Given the description of an element on the screen output the (x, y) to click on. 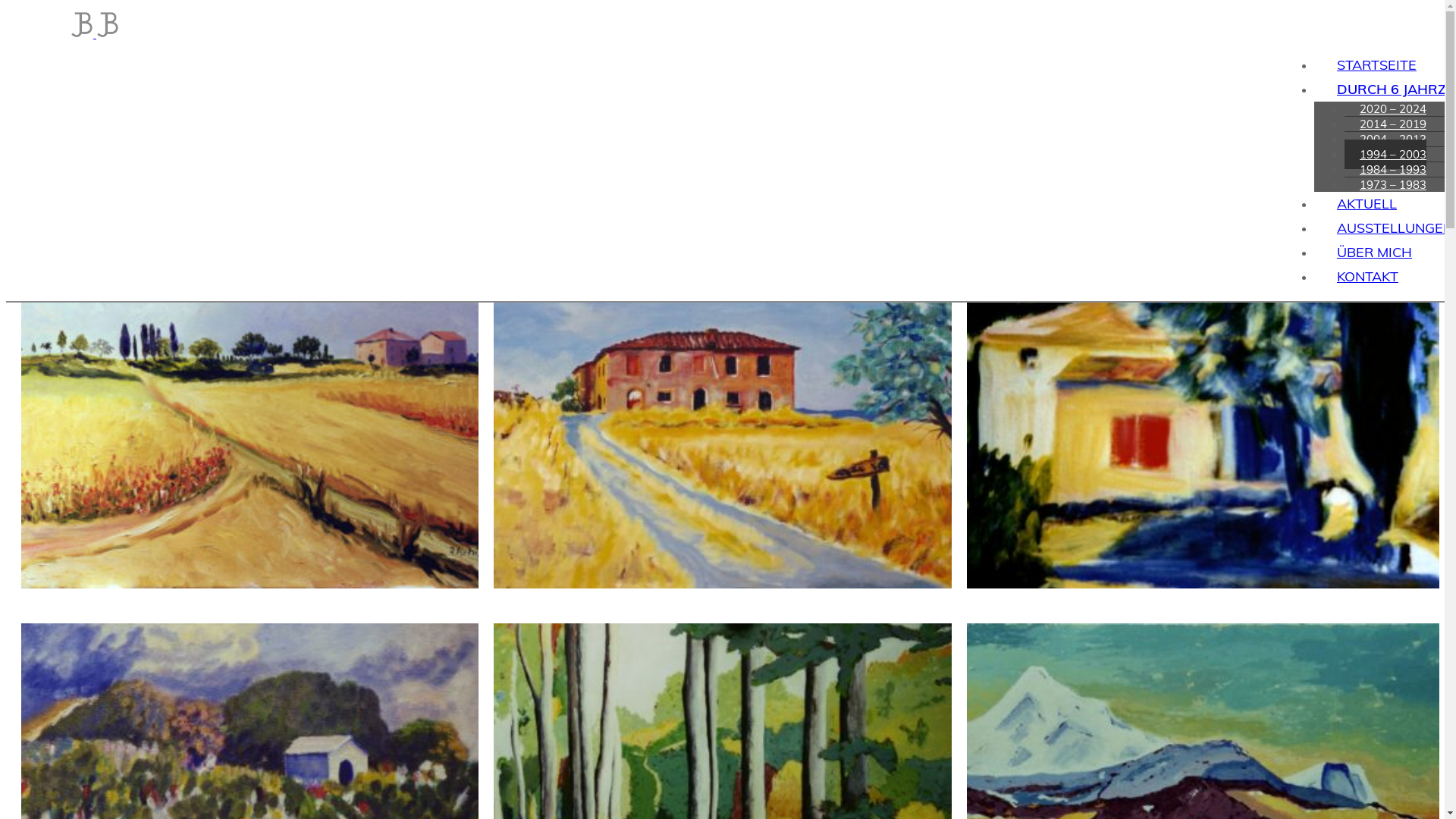
Bruno Ischi Element type: hover (81, 18)
AKTUELL Element type: text (1366, 203)
STARTSEITE Element type: text (1376, 64)
  Element type: text (7, 97)
Bruno Ischi 105 Oel (verkauft) Sommer, Toscana 60 x 45 Element type: hover (257, 598)
Bruno Ischi Element type: hover (107, 18)
KONTAKT Element type: text (1367, 276)
